Given the description of an element on the screen output the (x, y) to click on. 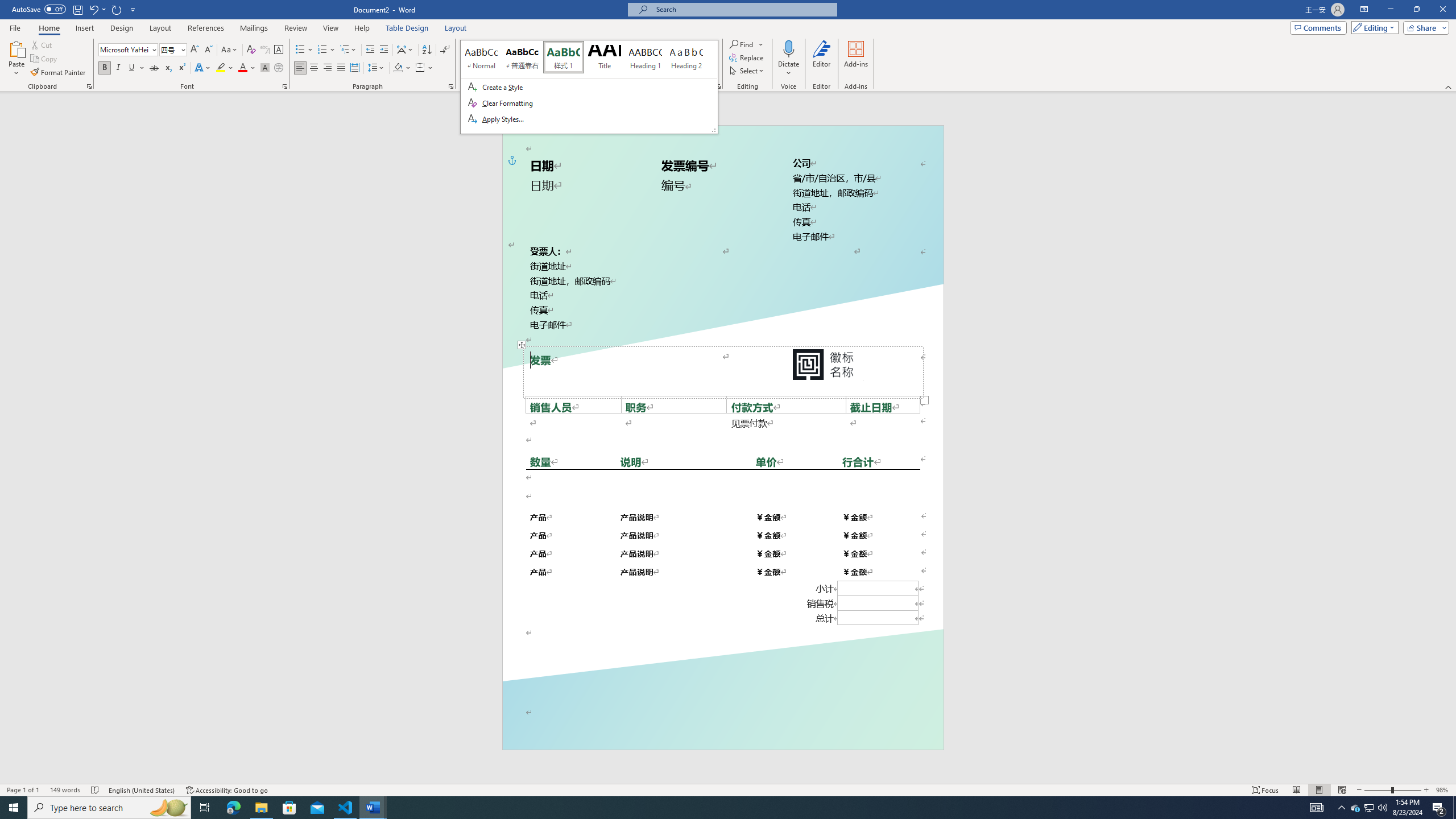
File Explorer - 1 running window (261, 807)
Class: Net UI Tool Window (588, 87)
